Given the description of an element on the screen output the (x, y) to click on. 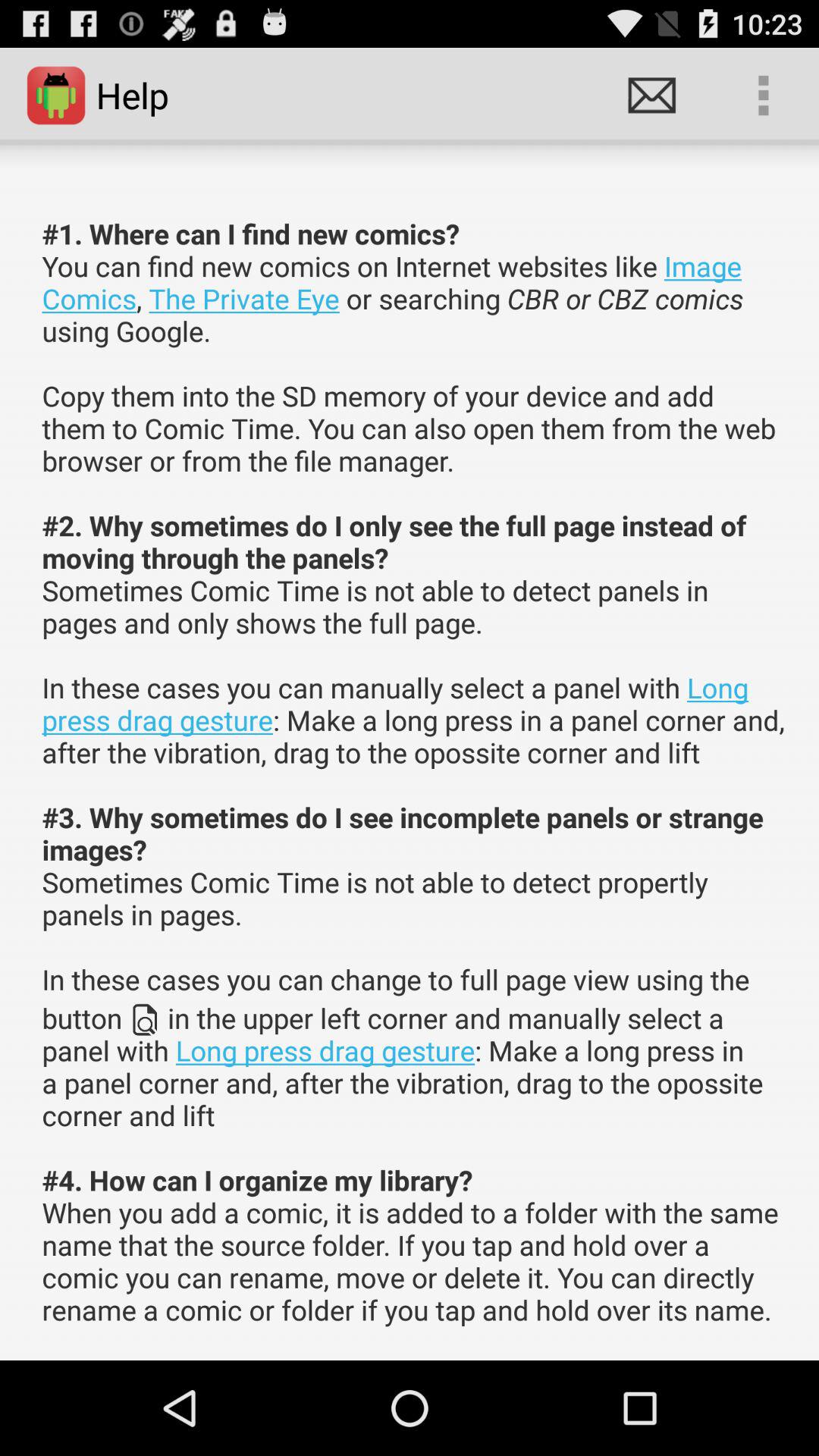
click the item above the 1 where can item (651, 95)
